Given the description of an element on the screen output the (x, y) to click on. 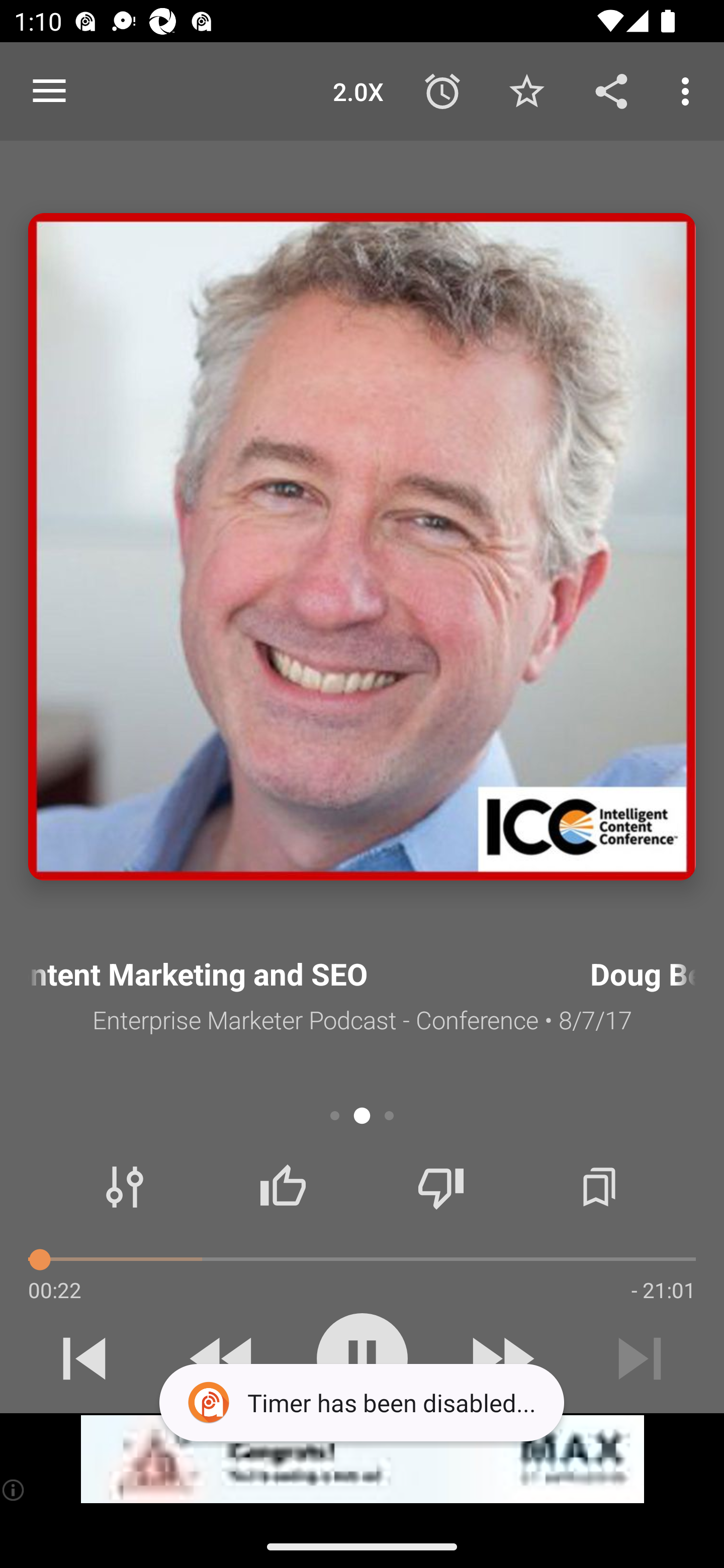
Open navigation sidebar (49, 91)
2.0X (357, 90)
Sleep Timer (442, 90)
Favorite (526, 90)
Share (611, 90)
More options (688, 90)
Episode description (361, 547)
Audio effects (124, 1186)
Thumbs up (283, 1186)
Thumbs down (440, 1186)
Chapters / Bookmarks (598, 1186)
- 21:01 (663, 1289)
Previous track (84, 1358)
Next track (639, 1358)
app-monetization (362, 1459)
(i) (14, 1489)
